Given the description of an element on the screen output the (x, y) to click on. 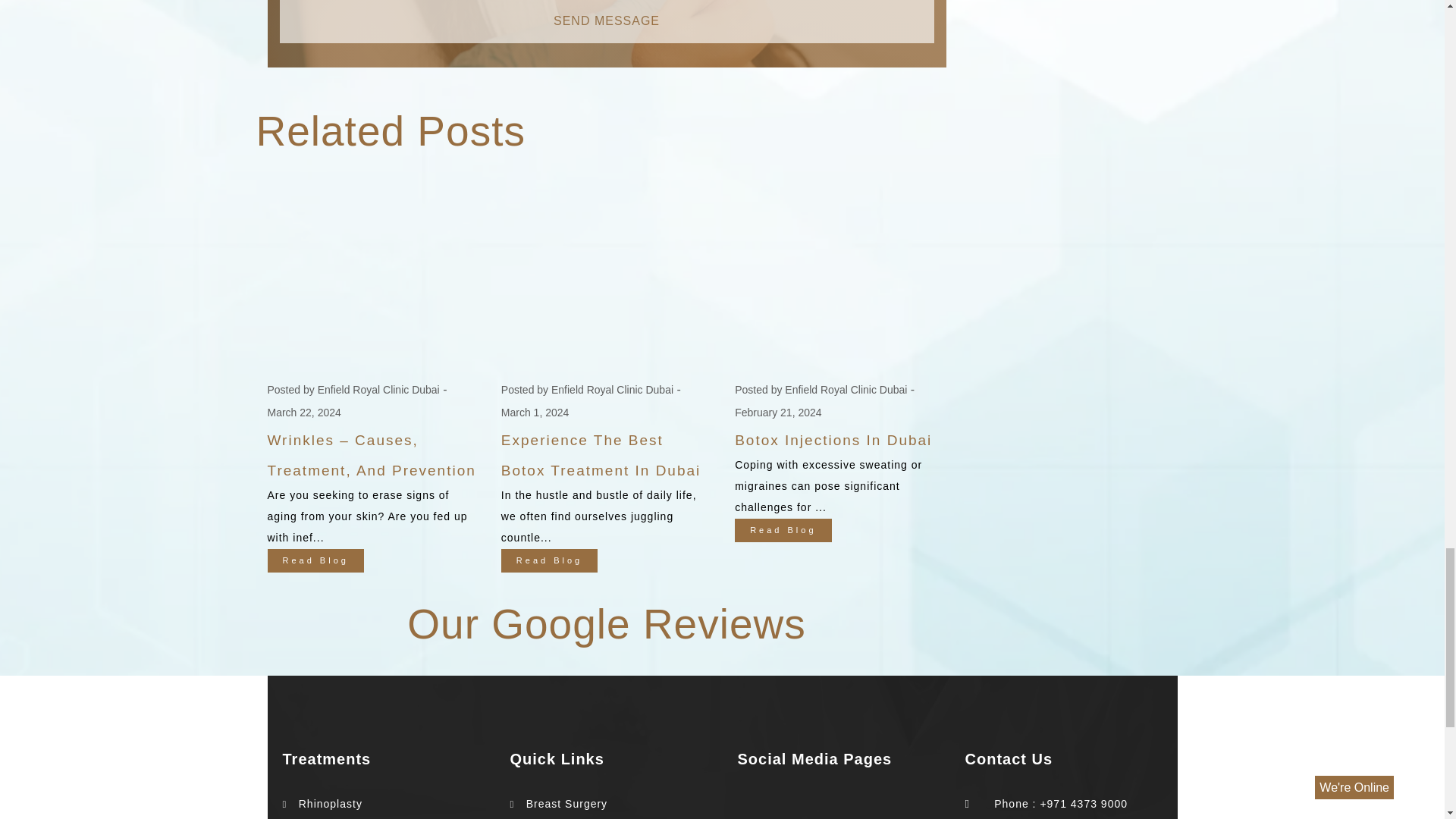
Send Message (606, 21)
